Given the description of an element on the screen output the (x, y) to click on. 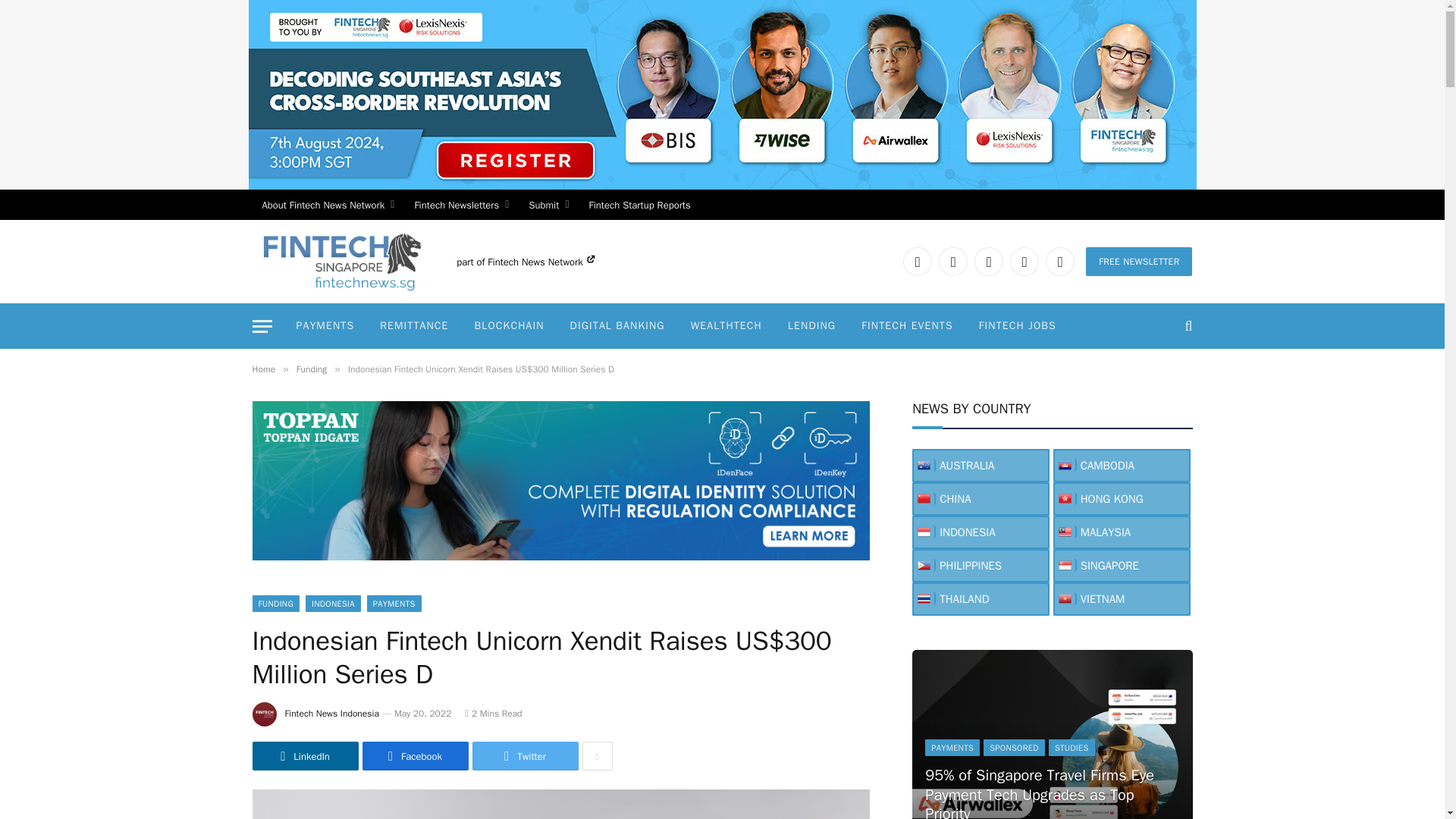
Search (1186, 326)
Fintech Newsletters (461, 204)
Fintech Singapore (340, 261)
Submit (548, 204)
Fintech Startup Reports (639, 204)
Fintech News Network (540, 261)
Show More Social Sharing (597, 756)
About Fintech News Network (327, 204)
Posts by Fintech News Indonesia (331, 713)
Share on LinkedIn (304, 756)
Share on Facebook (415, 756)
